Given the description of an element on the screen output the (x, y) to click on. 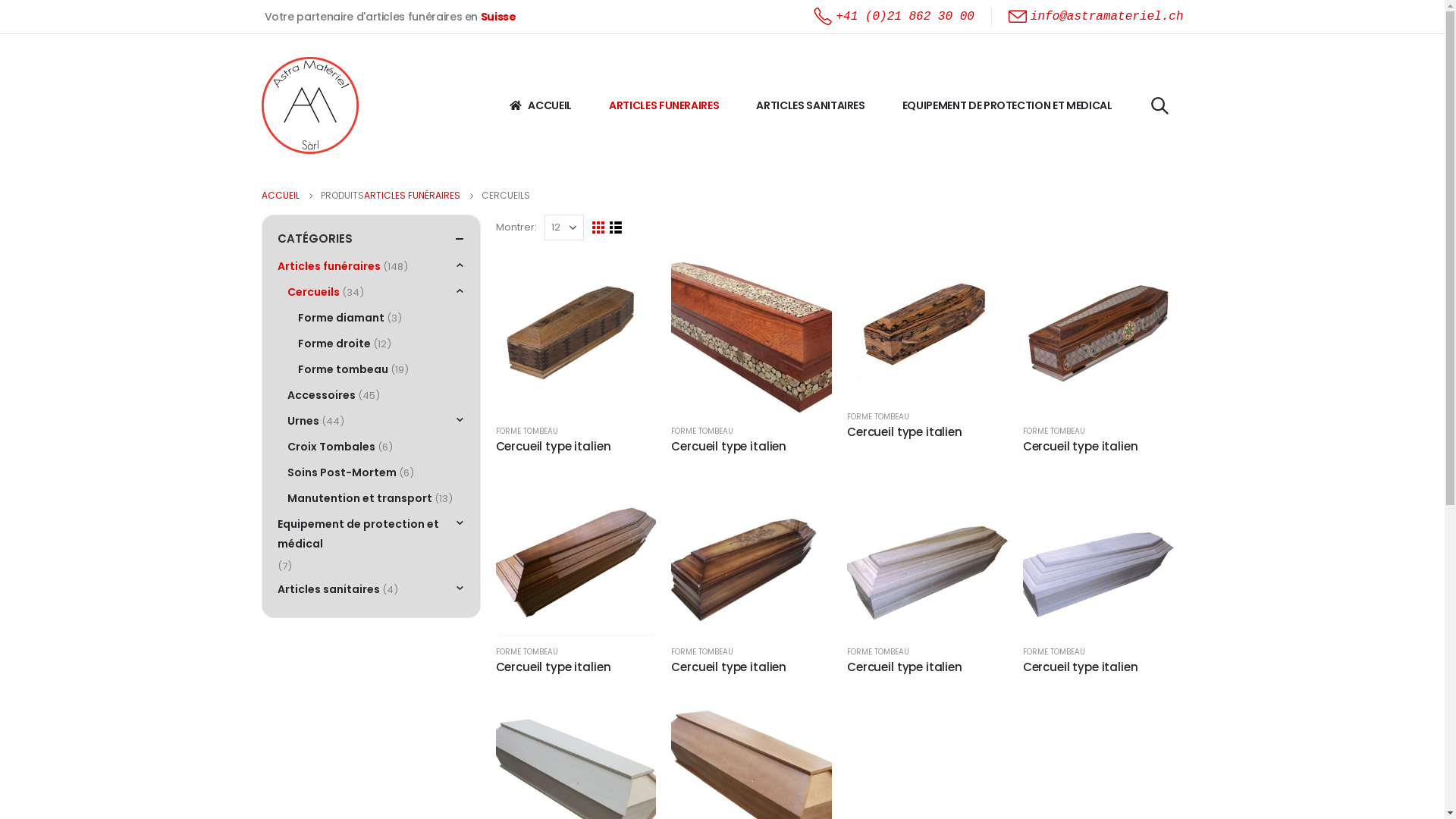
Cercueil type italien Element type: text (927, 431)
FORME TOMBEAU Element type: text (526, 651)
Accessoires Element type: text (321, 394)
Soins Post-Mortem Element type: text (341, 472)
FORME TOMBEAU Element type: text (1053, 430)
FORME TOMBEAU Element type: text (878, 416)
Vue de la liste Element type: hover (615, 227)
Vue sur la grille Element type: hover (598, 227)
FORME TOMBEAU Element type: text (526, 430)
Forme diamant Element type: text (341, 317)
Manutention et transport Element type: text (359, 498)
Cercueil type italien Element type: text (751, 446)
Urnes Element type: text (303, 420)
ARTICLES FUNERAIRES Element type: text (663, 105)
Cercueil type italien Element type: text (1102, 446)
FORME TOMBEAU Element type: text (702, 430)
Articles sanitaires Element type: text (328, 589)
Cercueil type italien Element type: text (751, 666)
EQUIPEMENT DE PROTECTION ET MEDICAL Element type: text (1007, 105)
ACCUEIL Element type: text (539, 105)
Croix Tombales Element type: text (331, 446)
Forme tombeau Element type: text (343, 369)
ACCUEIL Element type: text (279, 195)
Cercueil type italien Element type: text (1102, 666)
Cercueil type italien Element type: text (575, 446)
+41 (0)21 862 30 00 Element type: text (893, 16)
FORME TOMBEAU Element type: text (702, 651)
FORME TOMBEAU Element type: text (878, 651)
info@astramateriel.ch Element type: text (1095, 16)
Cercueils Element type: text (313, 291)
FORME TOMBEAU Element type: text (1053, 651)
Cercueil type italien Element type: text (927, 666)
Forme droite Element type: text (334, 343)
Cercueil type italien Element type: text (575, 666)
ARTICLES SANITAIRES Element type: text (809, 105)
